Given the description of an element on the screen output the (x, y) to click on. 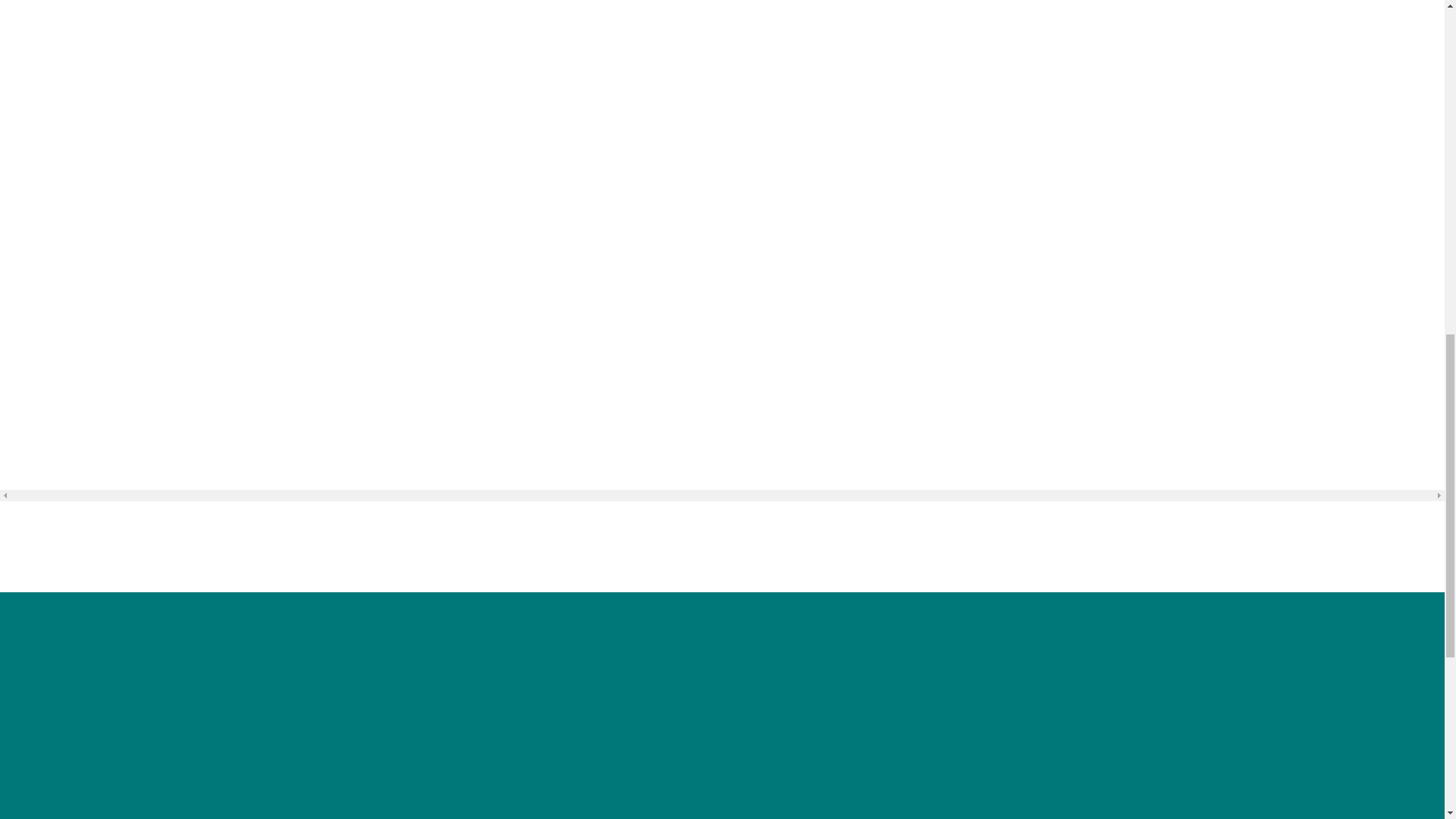
ICON-HAMBURGER (130, 47)
